Given the description of an element on the screen output the (x, y) to click on. 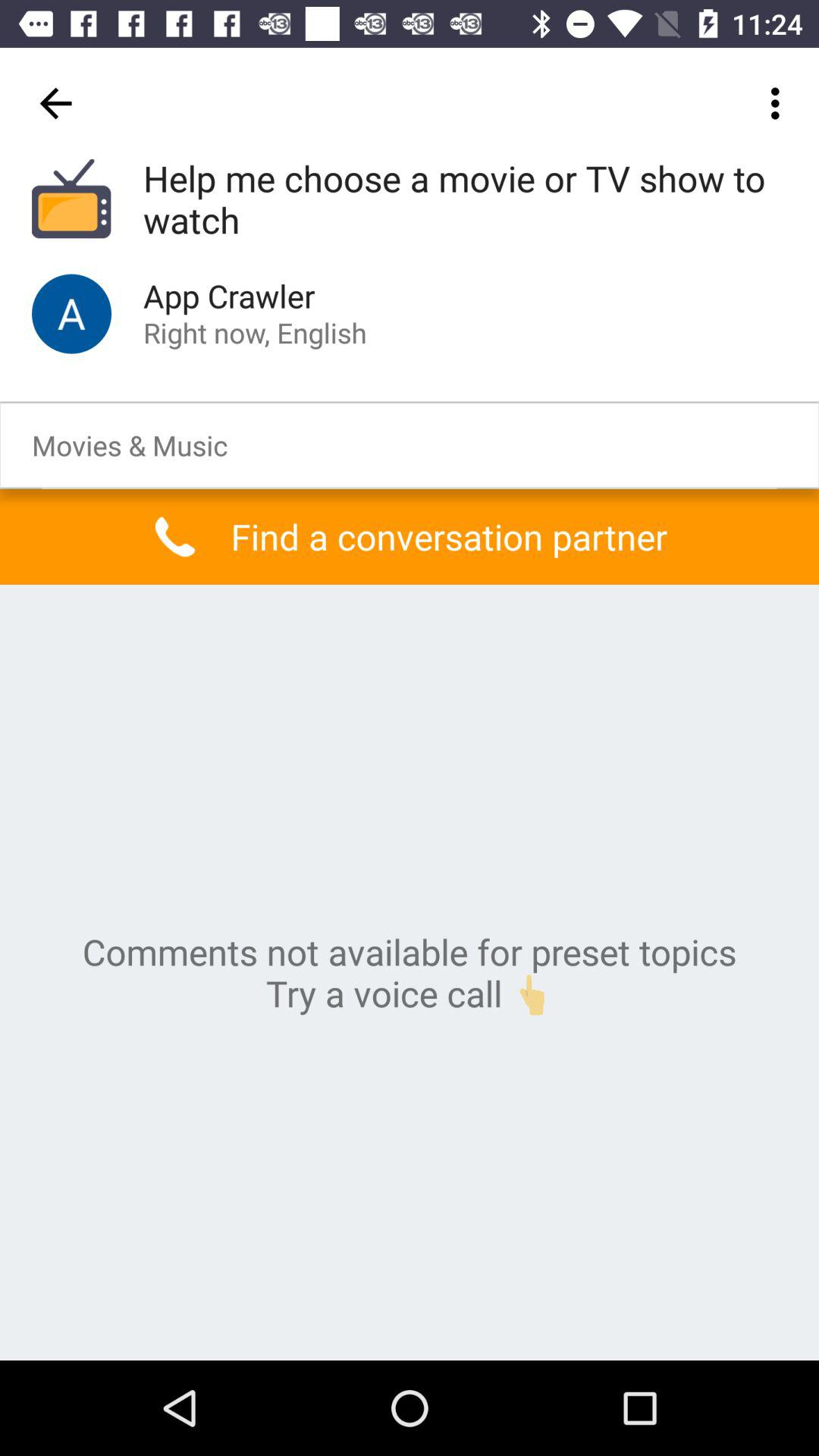
open app crawler (71, 313)
